Given the description of an element on the screen output the (x, y) to click on. 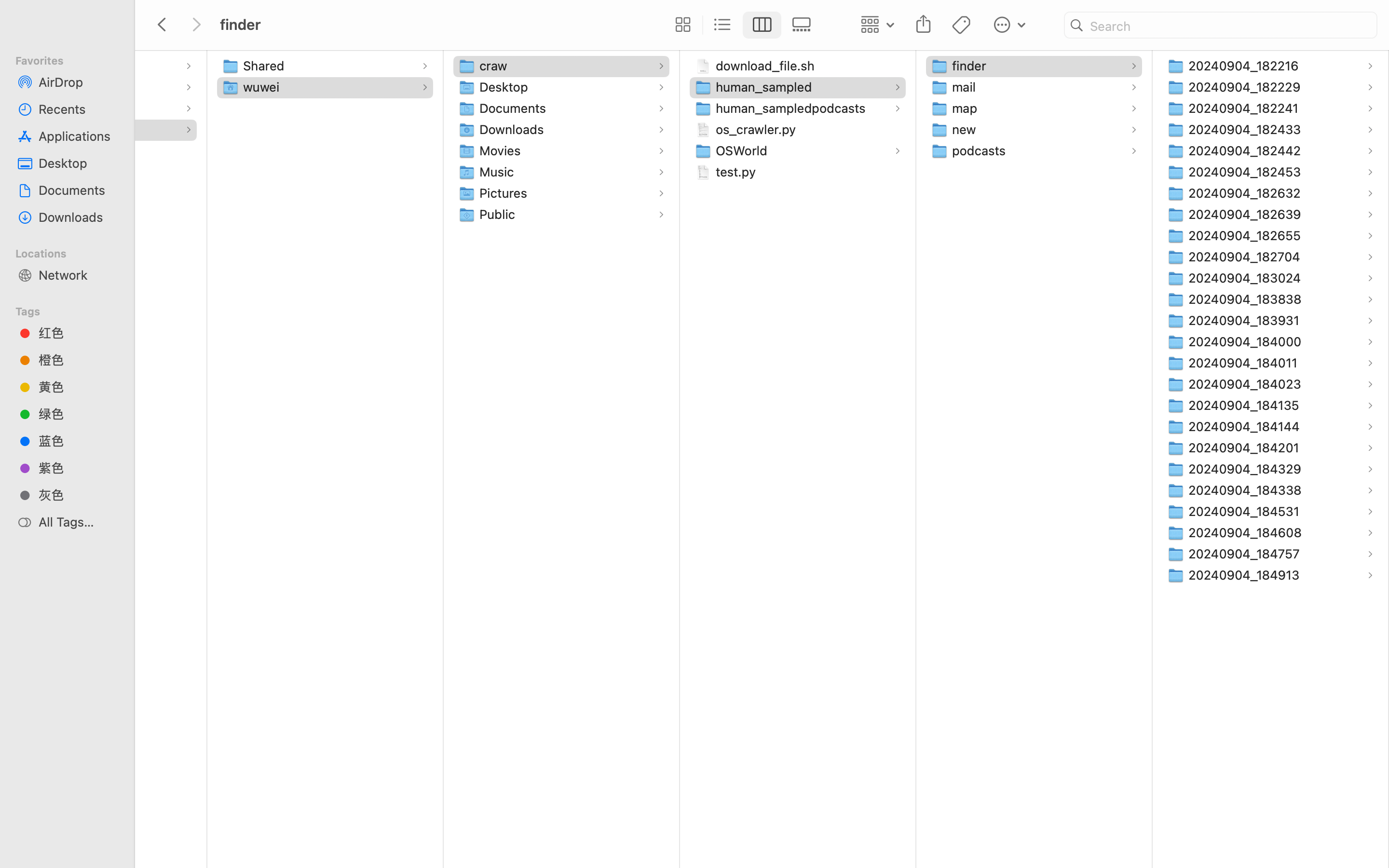
灰色 Element type: AXStaticText (77, 494)
20240904_182442 Element type: AXTextField (1246, 150)
System Element type: AXTextField (29, 107)
test.py Element type: AXTextField (737, 171)
20240904_182241 Element type: AXTextField (1245, 107)
